Given the description of an element on the screen output the (x, y) to click on. 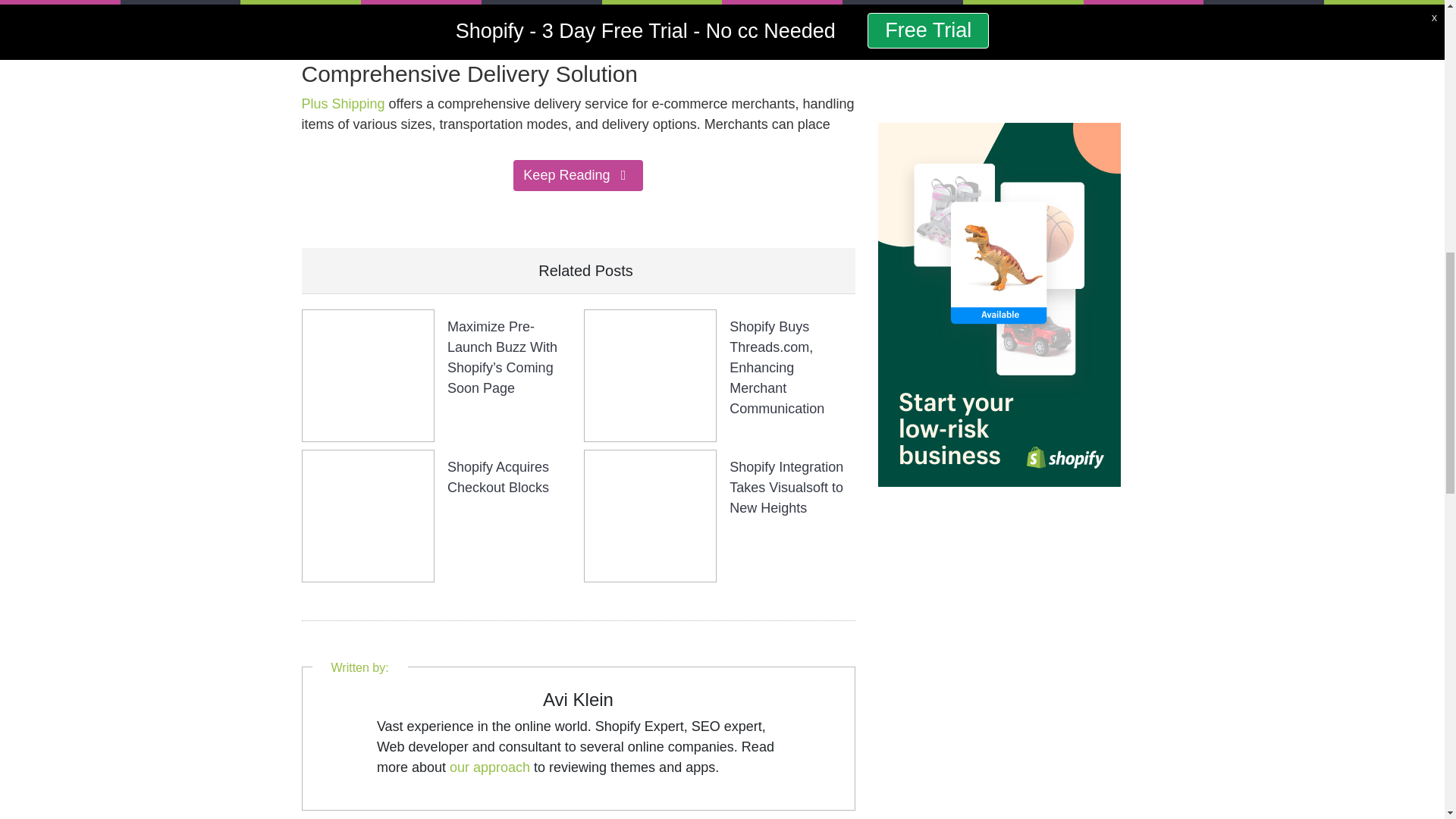
Plus Shipping (343, 103)
Shopify Buys Threads.com, Enhancing Merchant Communication (776, 367)
Shopify Buys Threads.com, Enhancing Merchant Communication (776, 367)
Shopify Buys Threads.com, Enhancing Merchant Communication (650, 374)
our approach (489, 767)
Shopify Acquires Checkout Blocks (497, 477)
Shopify Integration Takes Visualsoft to New Heights (786, 487)
Shopify Acquires Checkout Blocks (366, 514)
